Given the description of an element on the screen output the (x, y) to click on. 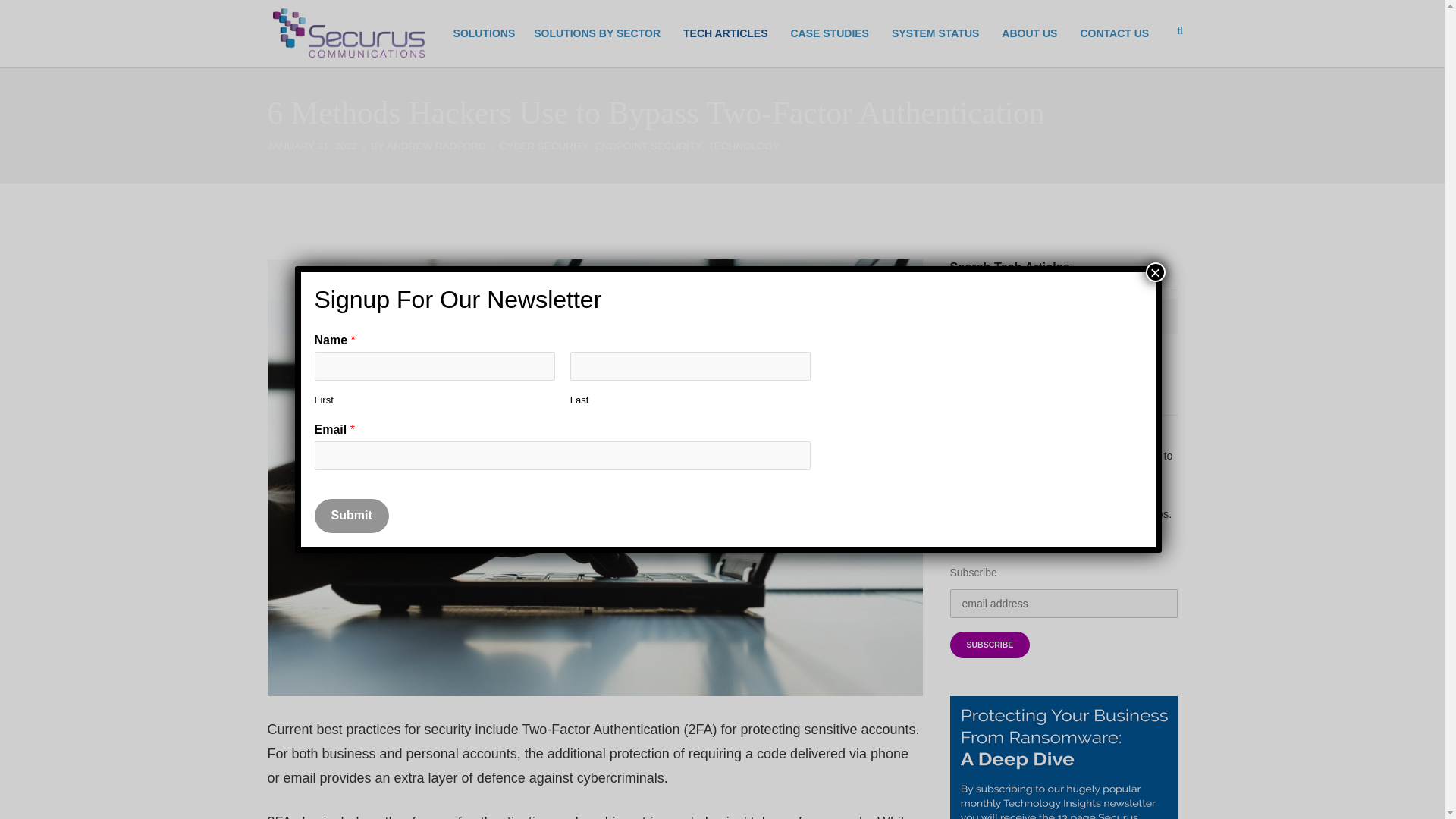
ANDREW RADFORD (436, 146)
TECH ARTICLES (724, 33)
CASE STUDIES (828, 33)
Subscribe (989, 644)
read our tech articles (724, 33)
find out how we can help your sector (596, 33)
CONTACT US (1114, 33)
view our recent work (828, 33)
CYBER SECURITY (544, 146)
check system status (935, 33)
SYSTEM STATUS (935, 33)
all about securus (1029, 33)
ABOUT US (1029, 33)
get in touch today (1114, 33)
SOLUTIONS BY SECTOR (596, 33)
